Given the description of an element on the screen output the (x, y) to click on. 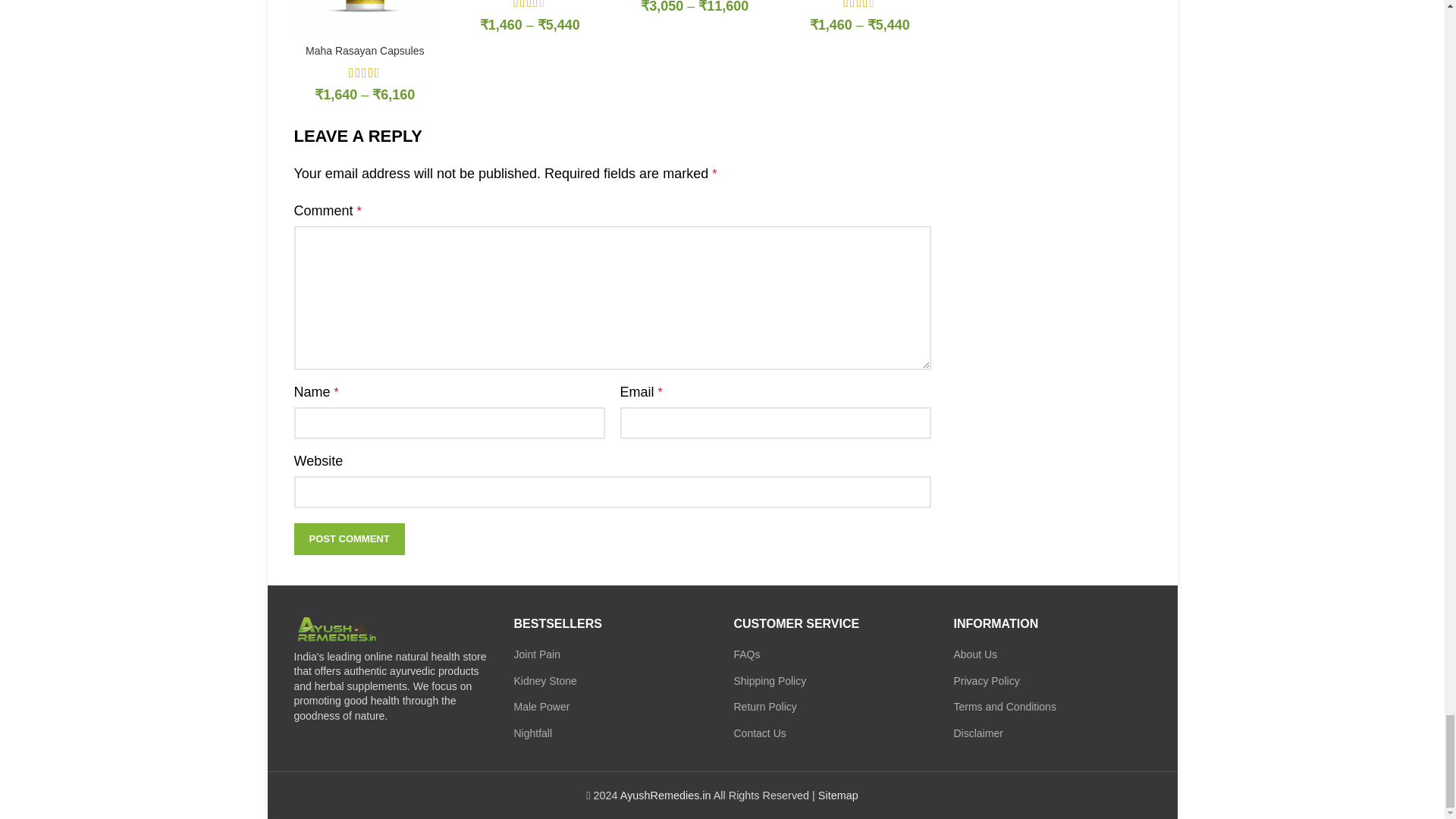
Post Comment (349, 539)
